Given the description of an element on the screen output the (x, y) to click on. 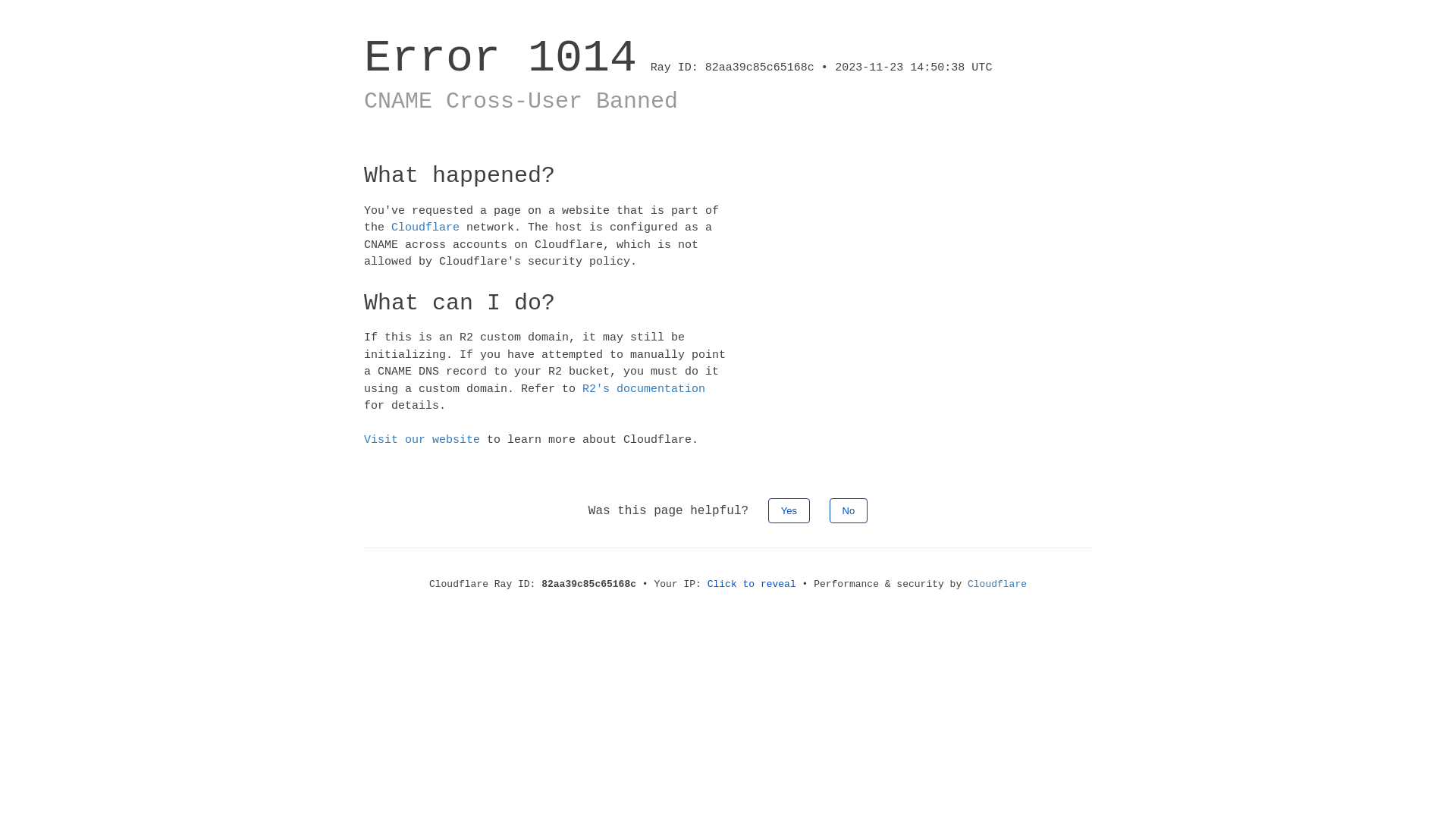
R2's documentation Element type: text (643, 388)
Click to reveal Element type: text (751, 583)
Cloudflare Element type: text (425, 227)
Visit our website Element type: text (422, 439)
No Element type: text (848, 509)
Yes Element type: text (788, 509)
Cloudflare Element type: text (996, 583)
